Given the description of an element on the screen output the (x, y) to click on. 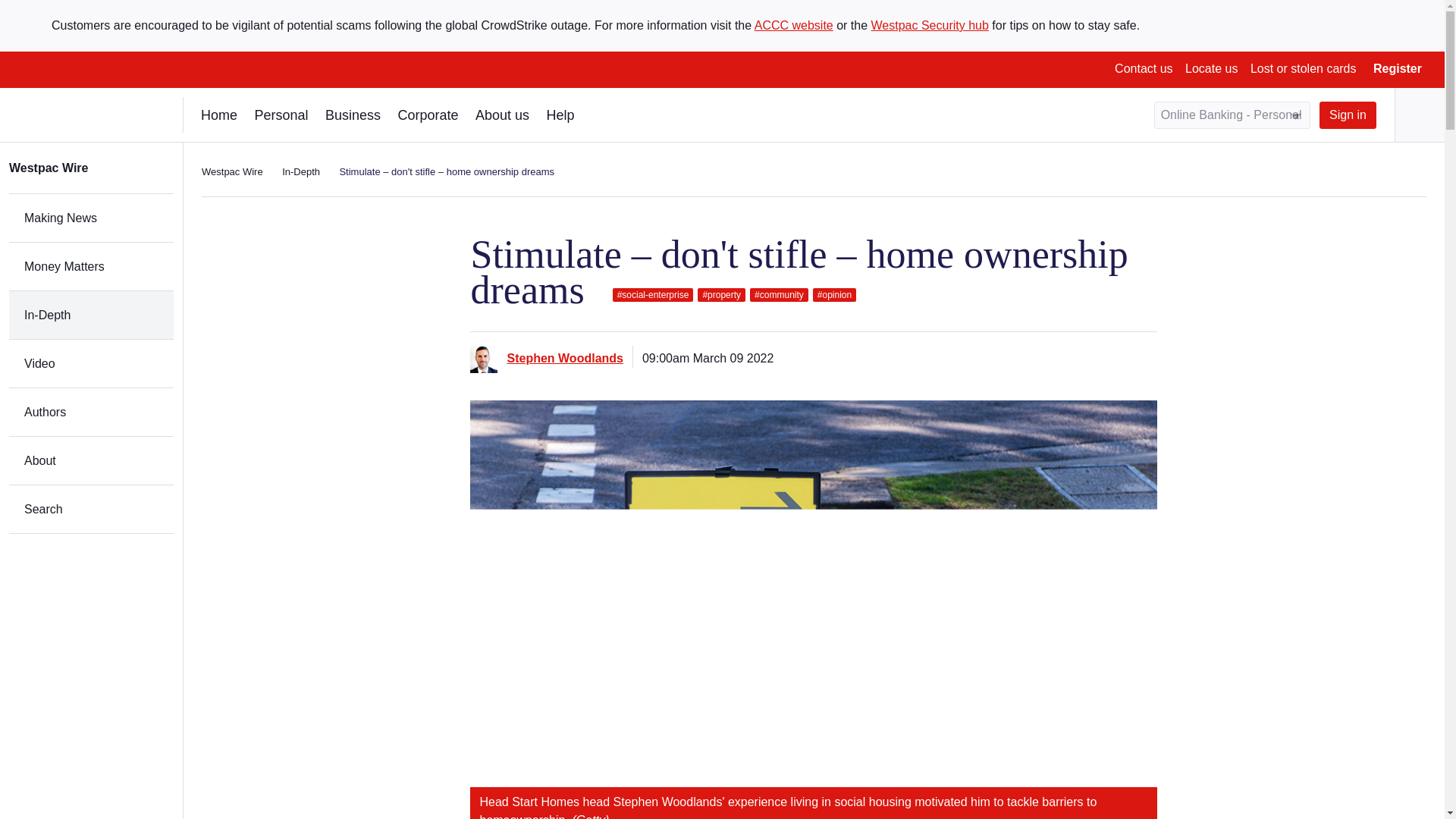
Westpac Security hub (929, 24)
ACCC website (793, 24)
Lost or stolen cards (1303, 68)
Register (1397, 68)
Locate us (1211, 68)
close (1432, 11)
Contact us (1143, 68)
Sign in (1347, 114)
